Given the description of an element on the screen output the (x, y) to click on. 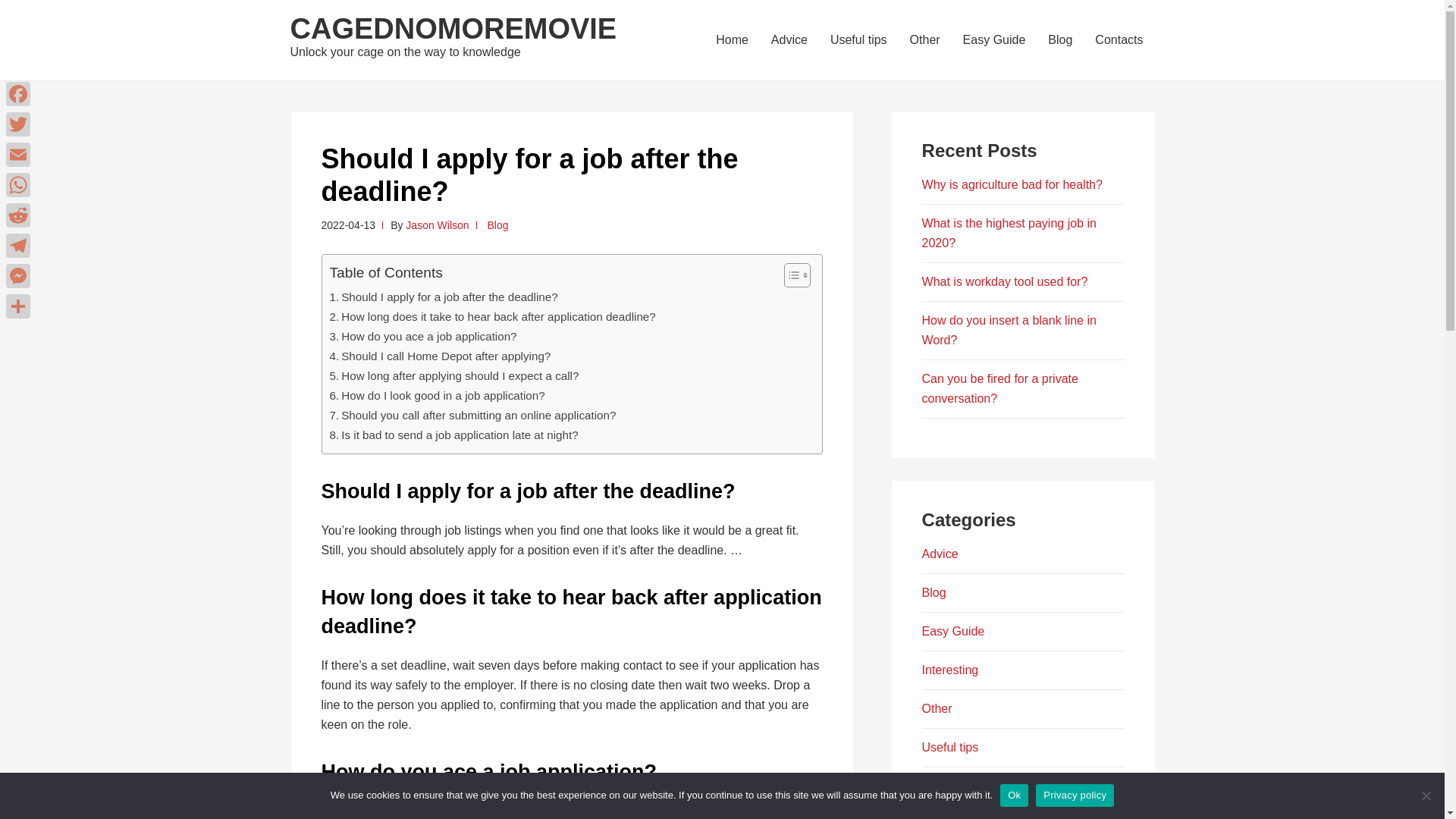
Should you call after submitting an online application? (472, 415)
Interesting (949, 669)
Easy Guide (953, 631)
Should I call Home Depot after applying? (439, 356)
What is the highest paying job in 2020? (1008, 233)
Advice (939, 553)
CAGEDNOMOREMOVIE (452, 29)
Advice (789, 39)
Should I call Home Depot after applying? (439, 356)
Can you be fired for a private conversation? (999, 388)
View all posts by Jason Wilson (437, 224)
How long after applying should I expect a call? (453, 375)
Email (17, 154)
Should I apply for a job after the deadline? (443, 297)
